Given the description of an element on the screen output the (x, y) to click on. 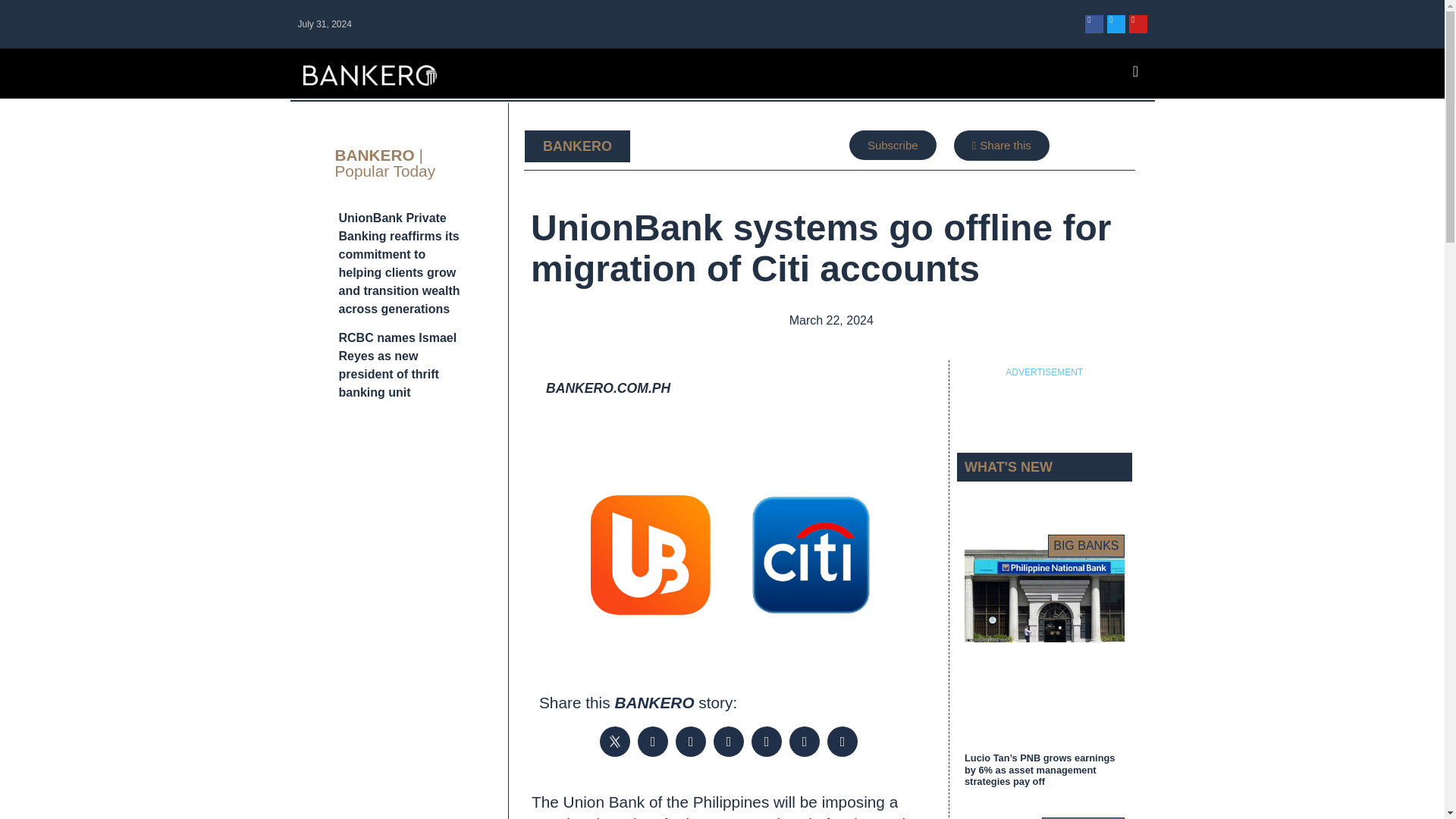
Share this (1001, 145)
INSURANCE (1083, 818)
Subscribe (892, 144)
BIG BANKS (1086, 545)
BANKERO (577, 146)
March 22, 2024 (829, 321)
BANKERO.COM.PH (607, 387)
